Given the description of an element on the screen output the (x, y) to click on. 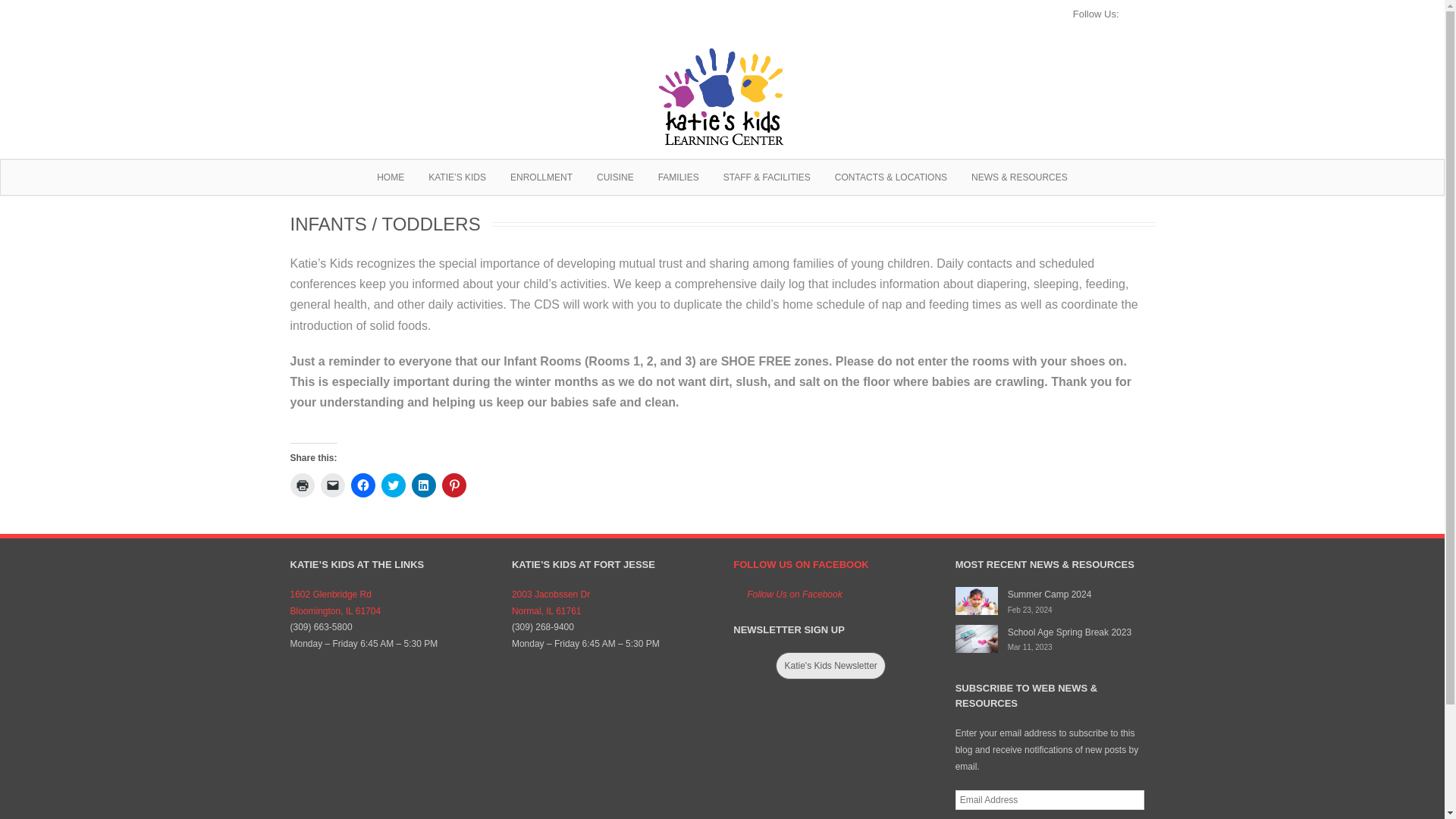
Click to print (301, 485)
Click to share on LinkedIn (422, 485)
Click to share on Twitter (392, 485)
Click to share on Facebook (362, 485)
School Age Spring Break 2023 (976, 638)
Summer Camp 2024 (976, 601)
Click to email a link to a friend (331, 485)
Click to share on Pinterest (453, 485)
